Given the description of an element on the screen output the (x, y) to click on. 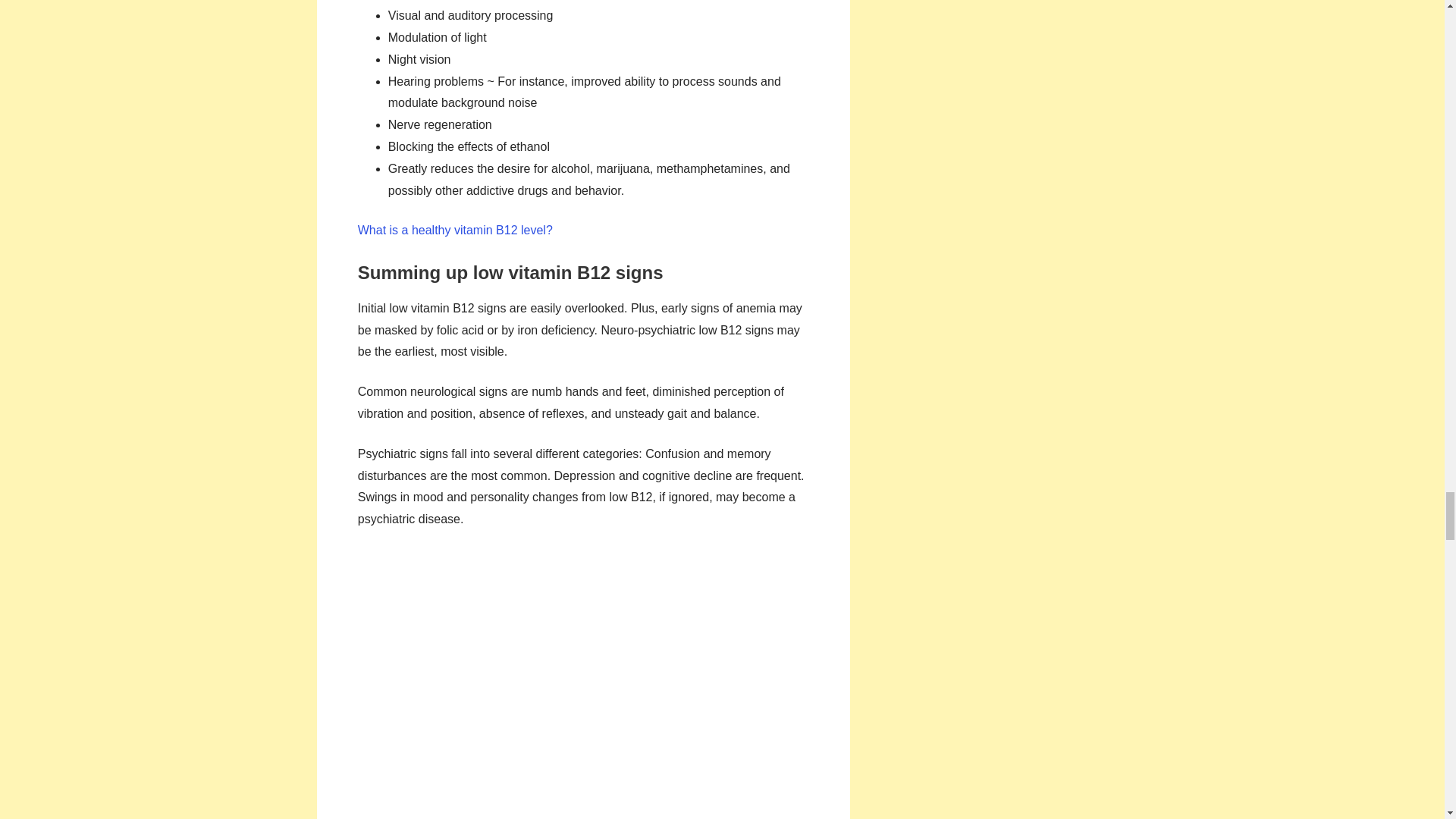
What is a Healthy B12 Level? (455, 229)
